Given the description of an element on the screen output the (x, y) to click on. 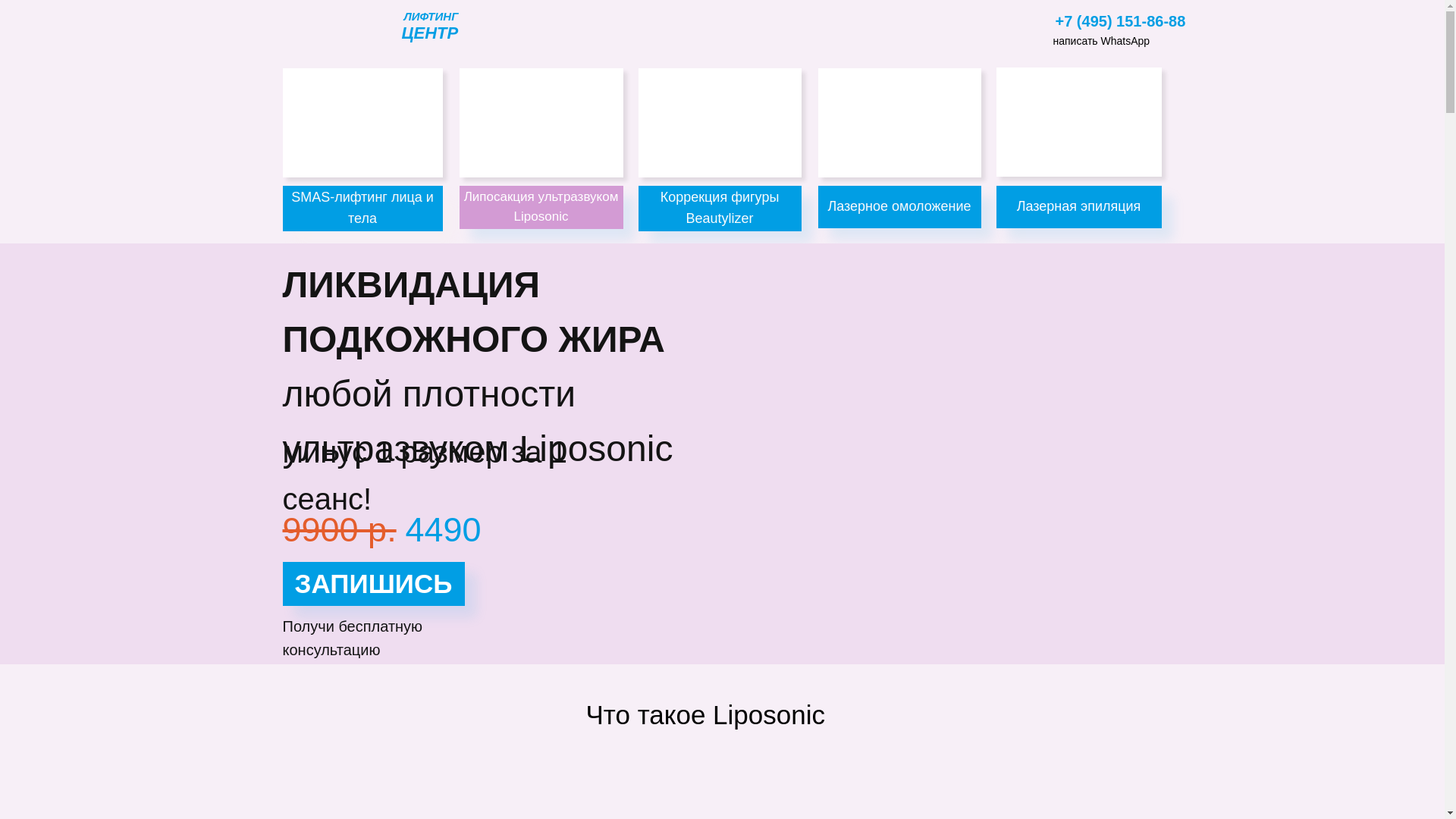
+7 (495) 151-86-88 Element type: text (1120, 20)
